Given the description of an element on the screen output the (x, y) to click on. 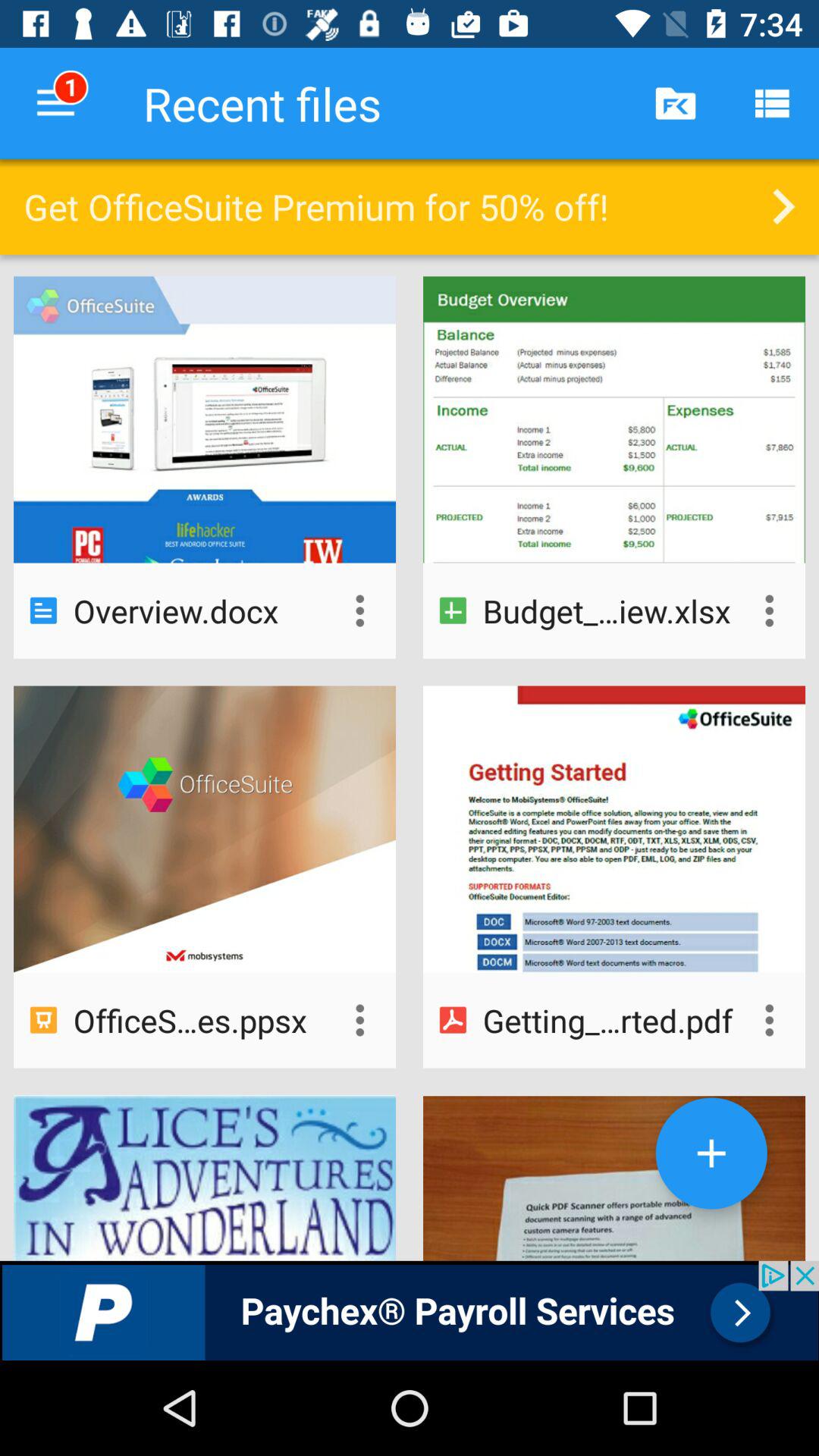
choose this (359, 1020)
